Given the description of an element on the screen output the (x, y) to click on. 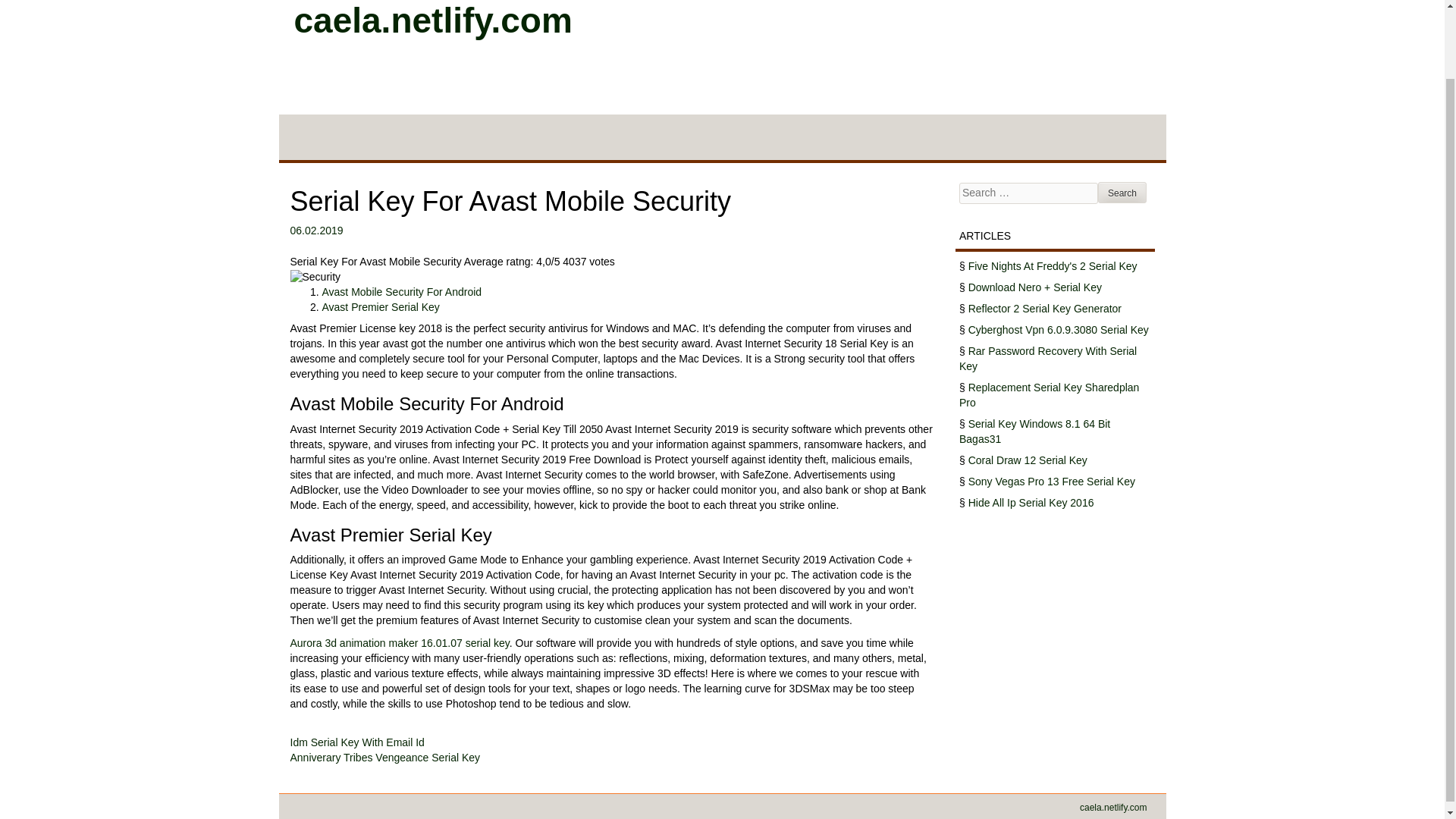
Cyberghost Vpn 6.0.9.3080 Serial Key (1058, 329)
Avast Mobile Security For Android (401, 291)
Aurora 3d animation maker 16.01.07 serial key (398, 643)
Search (1122, 192)
Replacement Serial Key Sharedplan Pro (1048, 394)
Five Nights At Freddy's 2 Serial Key (1052, 265)
caela.netlify.com (1113, 807)
06.02.2019 (315, 230)
Security (314, 277)
Rar Password Recovery With Serial Key (1048, 358)
